Given the description of an element on the screen output the (x, y) to click on. 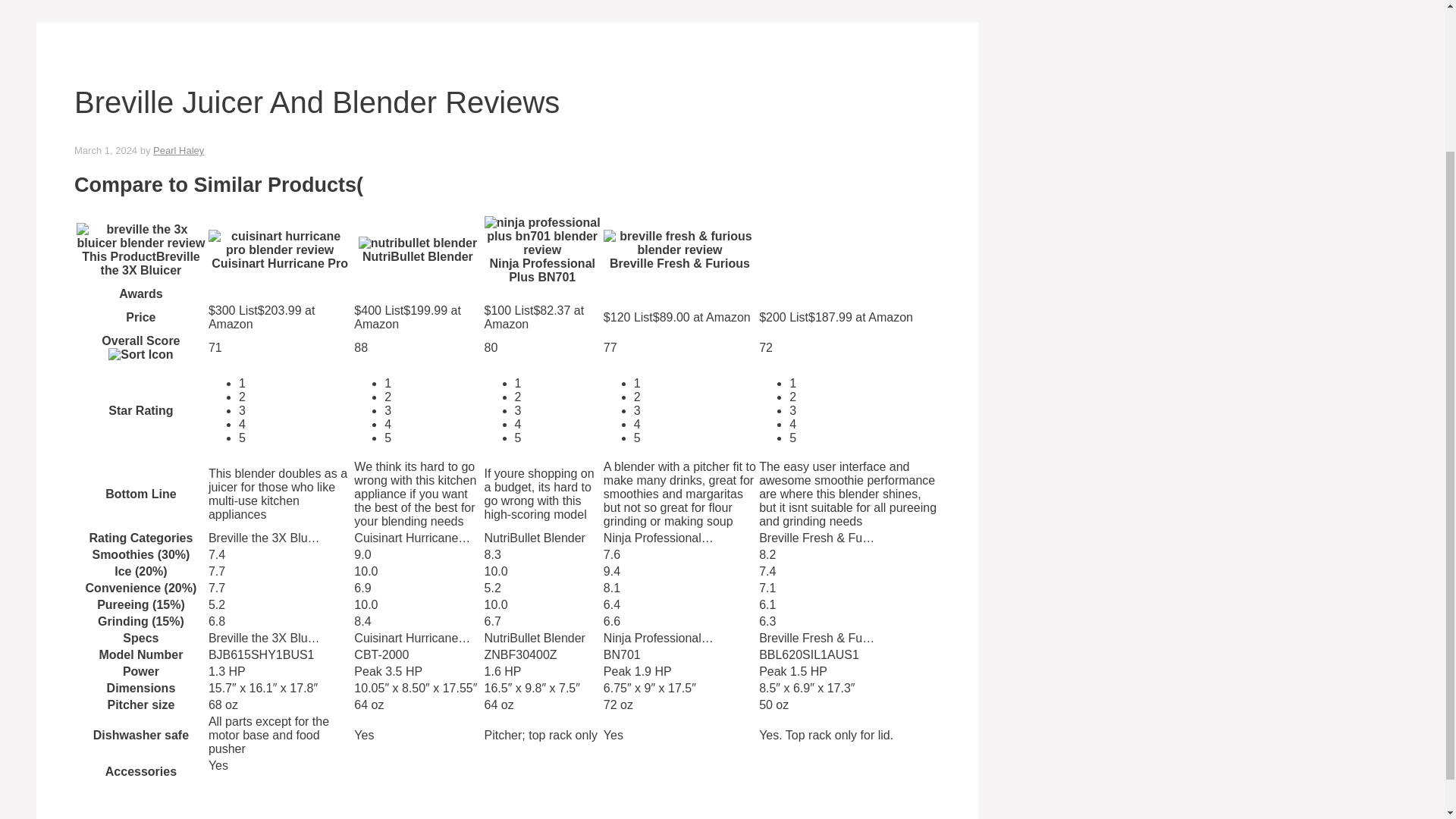
Click on any Rating Category to sort by that metric. (140, 537)
Pearl Haley (177, 150)
View all posts by Pearl Haley (177, 150)
